Given the description of an element on the screen output the (x, y) to click on. 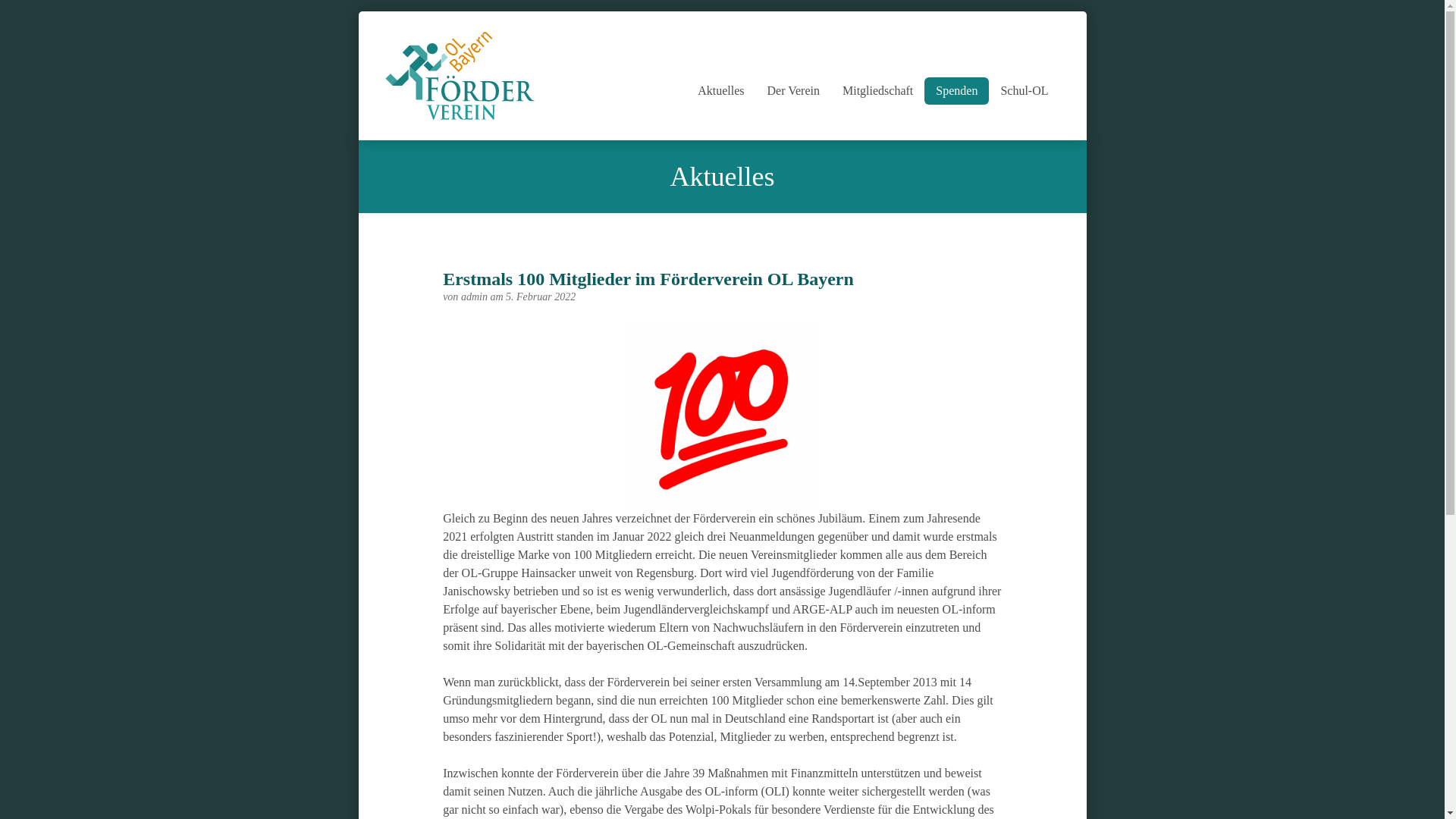
Der Verein Element type: text (793, 90)
admin Element type: text (475, 296)
Schul-OL Element type: text (1023, 90)
Spenden Element type: text (956, 90)
Mitgliedschaft Element type: text (877, 90)
Aktuelles Element type: text (720, 90)
